Given the description of an element on the screen output the (x, y) to click on. 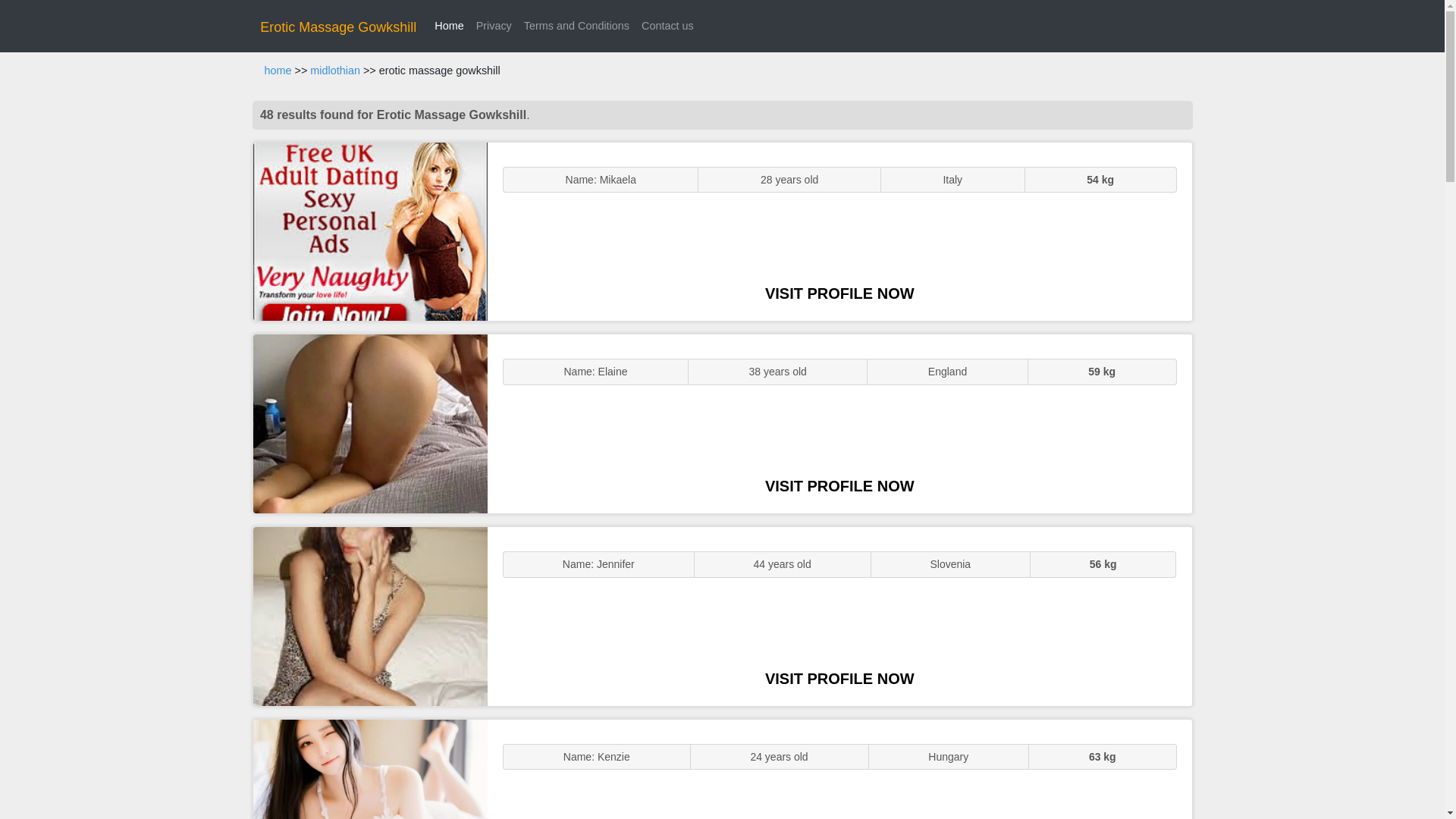
GFE (370, 423)
 ENGLISH STUNNER (370, 231)
Terms and Conditions (576, 25)
VISIT PROFILE NOW (839, 485)
Sluts (370, 769)
VISIT PROFILE NOW (839, 293)
Sexy (370, 616)
VISIT PROFILE NOW (839, 678)
midlothian (334, 70)
Contact us (667, 25)
Privacy (494, 25)
Erotic Massage Gowkshill (338, 27)
home (277, 70)
